Given the description of an element on the screen output the (x, y) to click on. 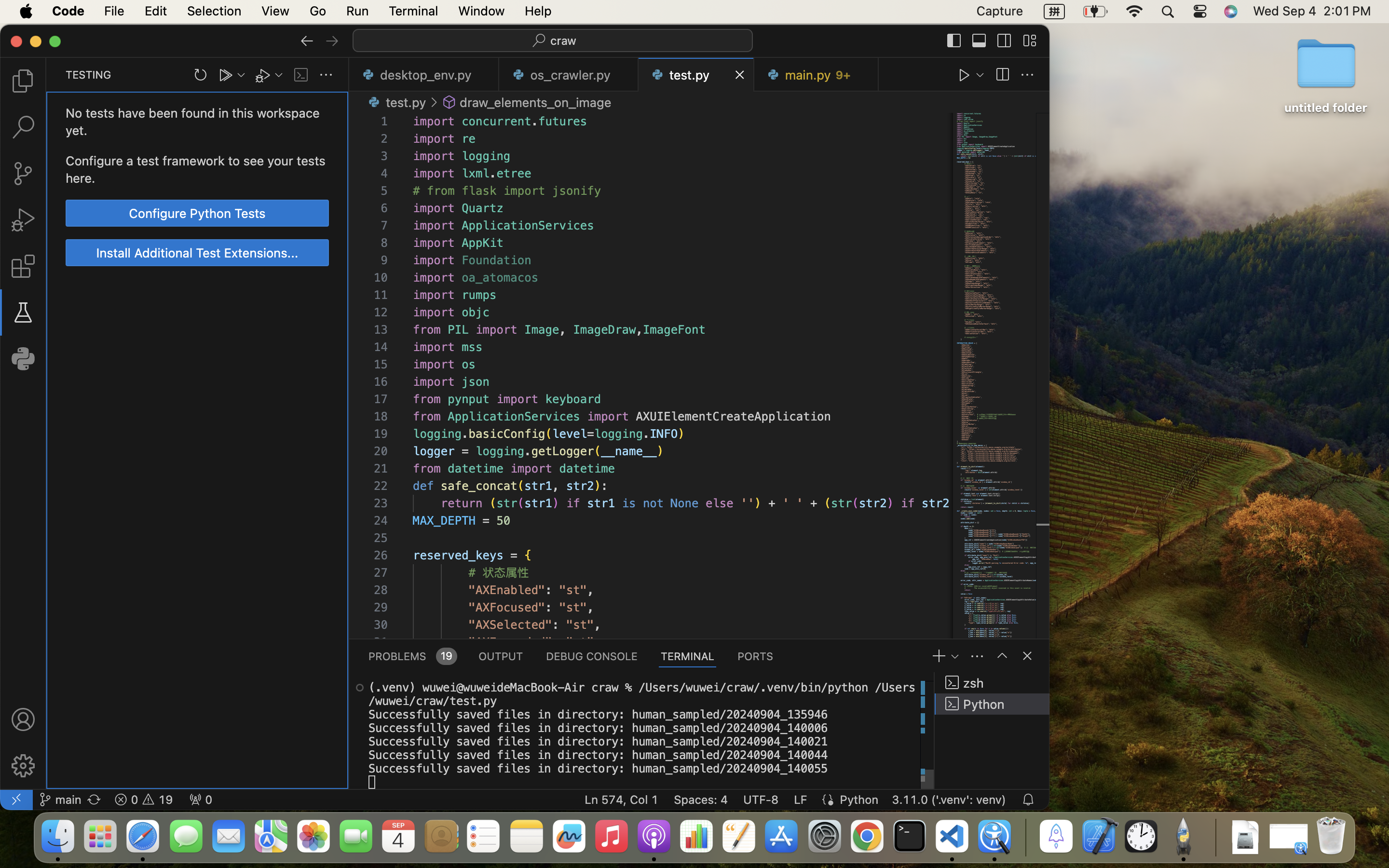
 Element type: AXCheckBox (978, 40)
TESTING Element type: AXStaticText (88, 74)
1 test.py   Element type: AXRadioButton (696, 74)
 Element type: AXButton (332, 40)
main  Element type: AXButton (59, 799)
